Given the description of an element on the screen output the (x, y) to click on. 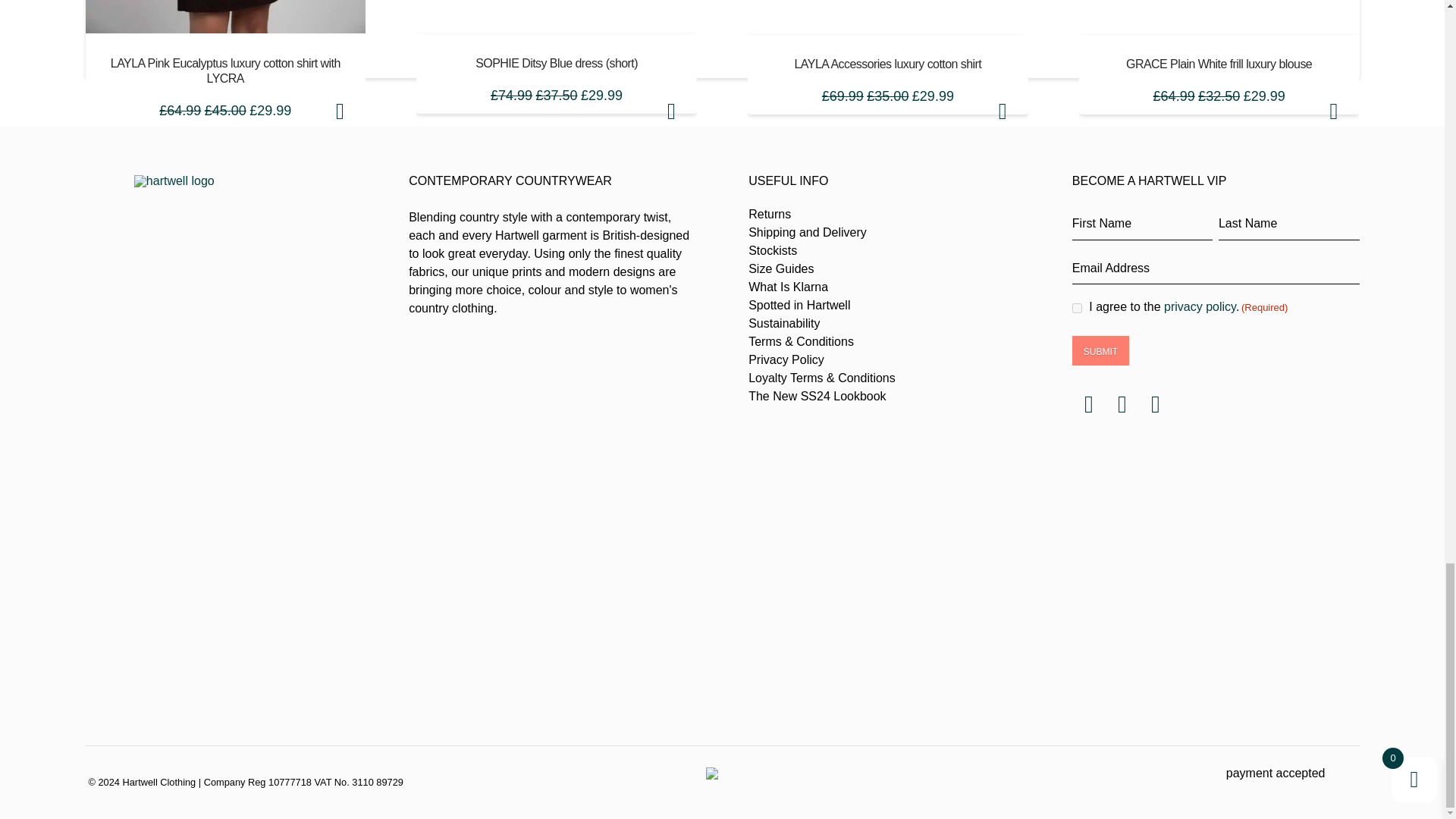
1 (1076, 307)
Submit (1100, 350)
